Given the description of an element on the screen output the (x, y) to click on. 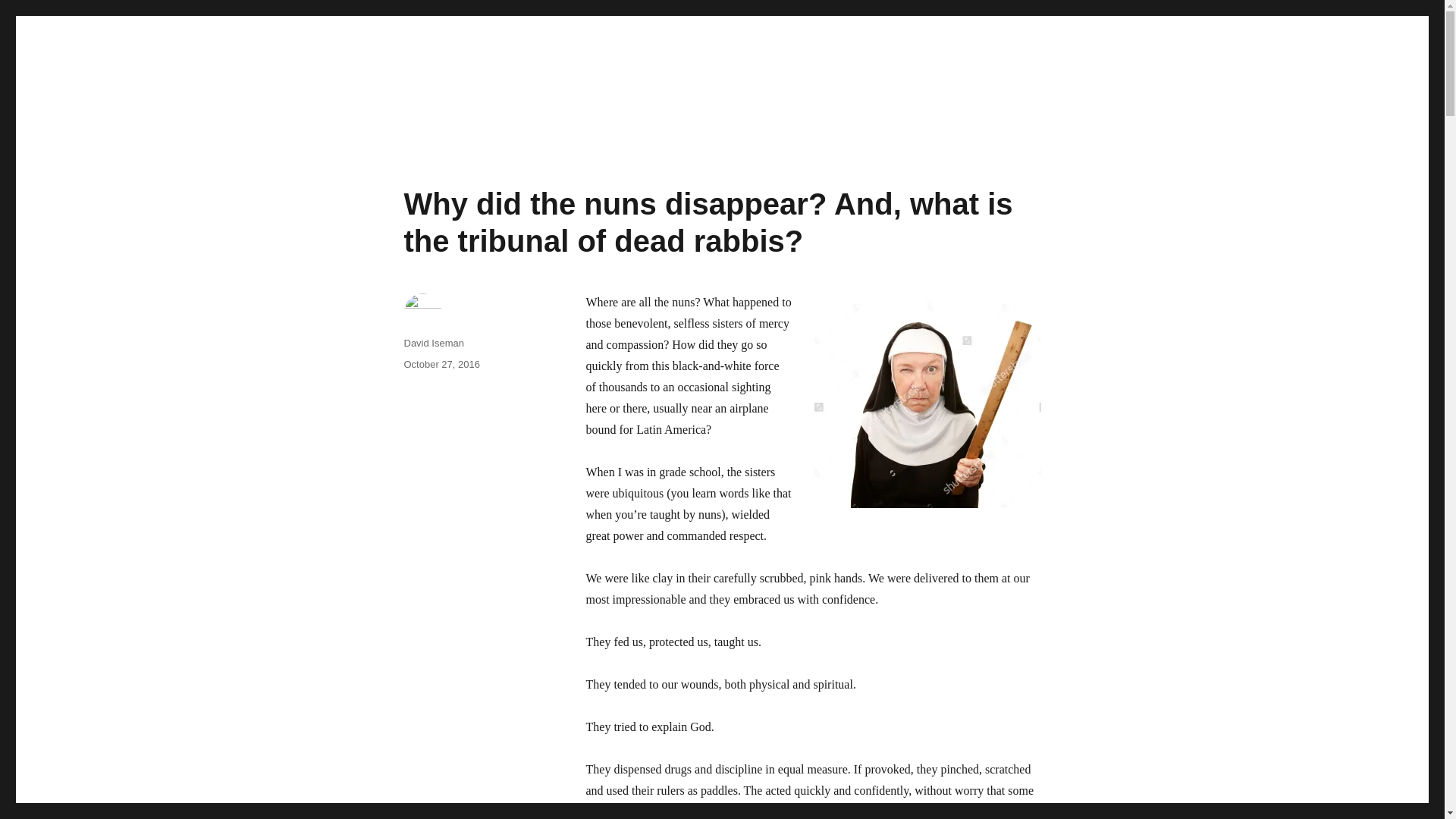
Dave Iseman (331, 114)
October 27, 2016 (441, 364)
David Iseman (433, 342)
